Given the description of an element on the screen output the (x, y) to click on. 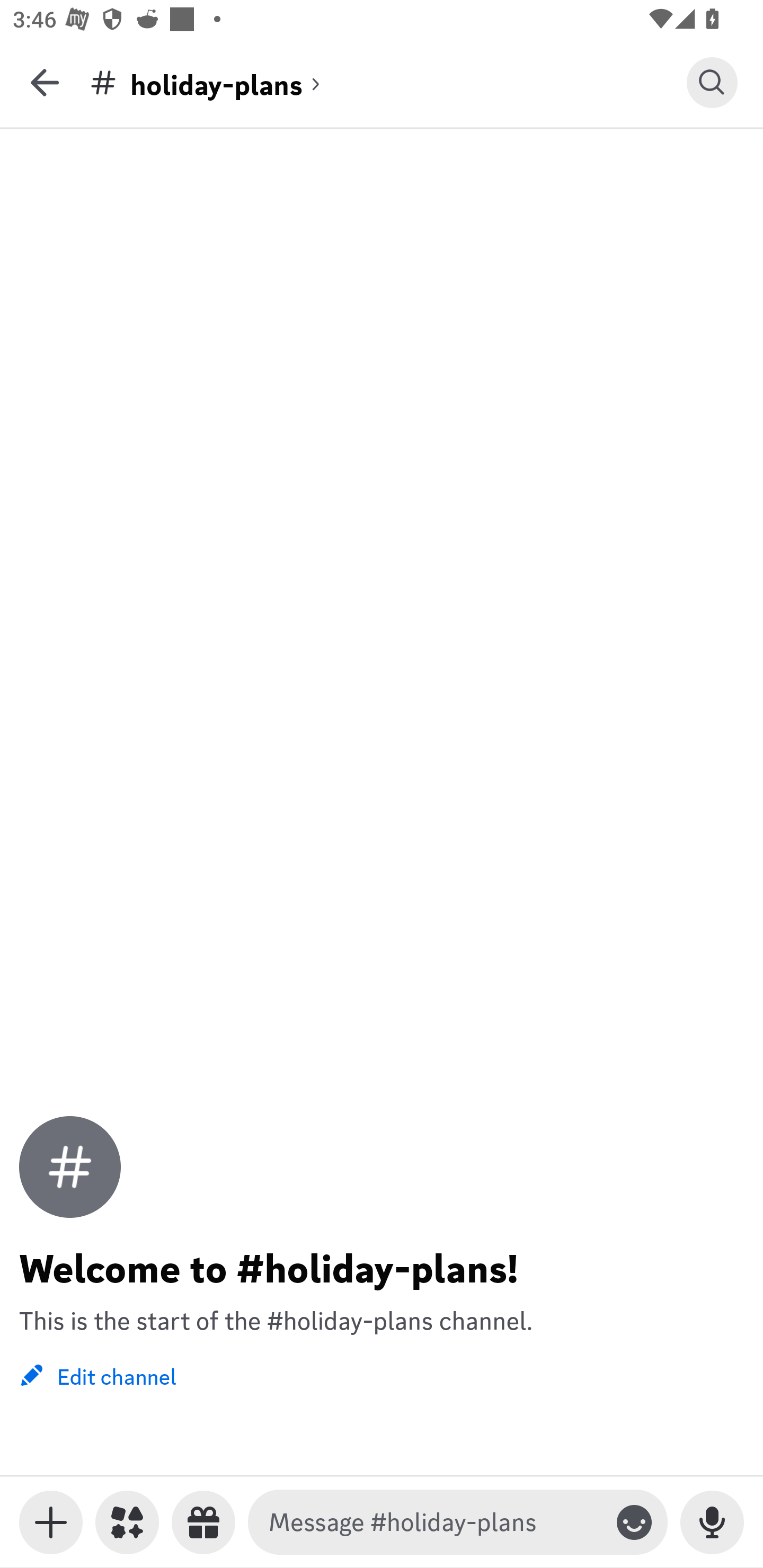
Back (44, 82)
Search (711, 82)
Edit channel (97, 1375)
Toggle media keyboard (50, 1522)
Apps (126, 1522)
Send a gift (203, 1522)
Record Voice Message (711, 1522)
Message #holiday-plans (433, 1522)
Toggle emoji keyboard (634, 1522)
